Given the description of an element on the screen output the (x, y) to click on. 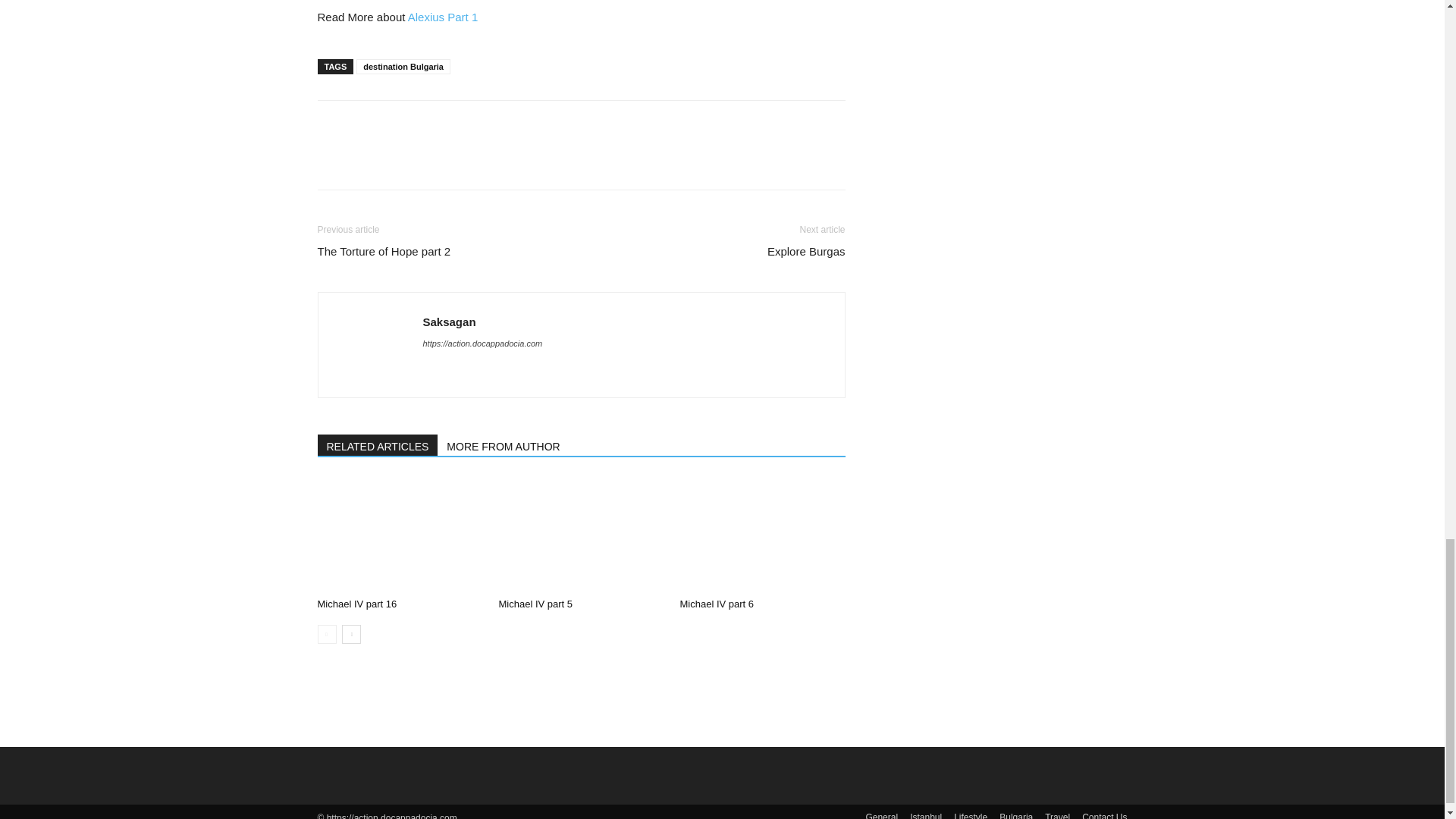
Alexius Part 1 (443, 16)
bottomFacebookLike (430, 124)
